Given the description of an element on the screen output the (x, y) to click on. 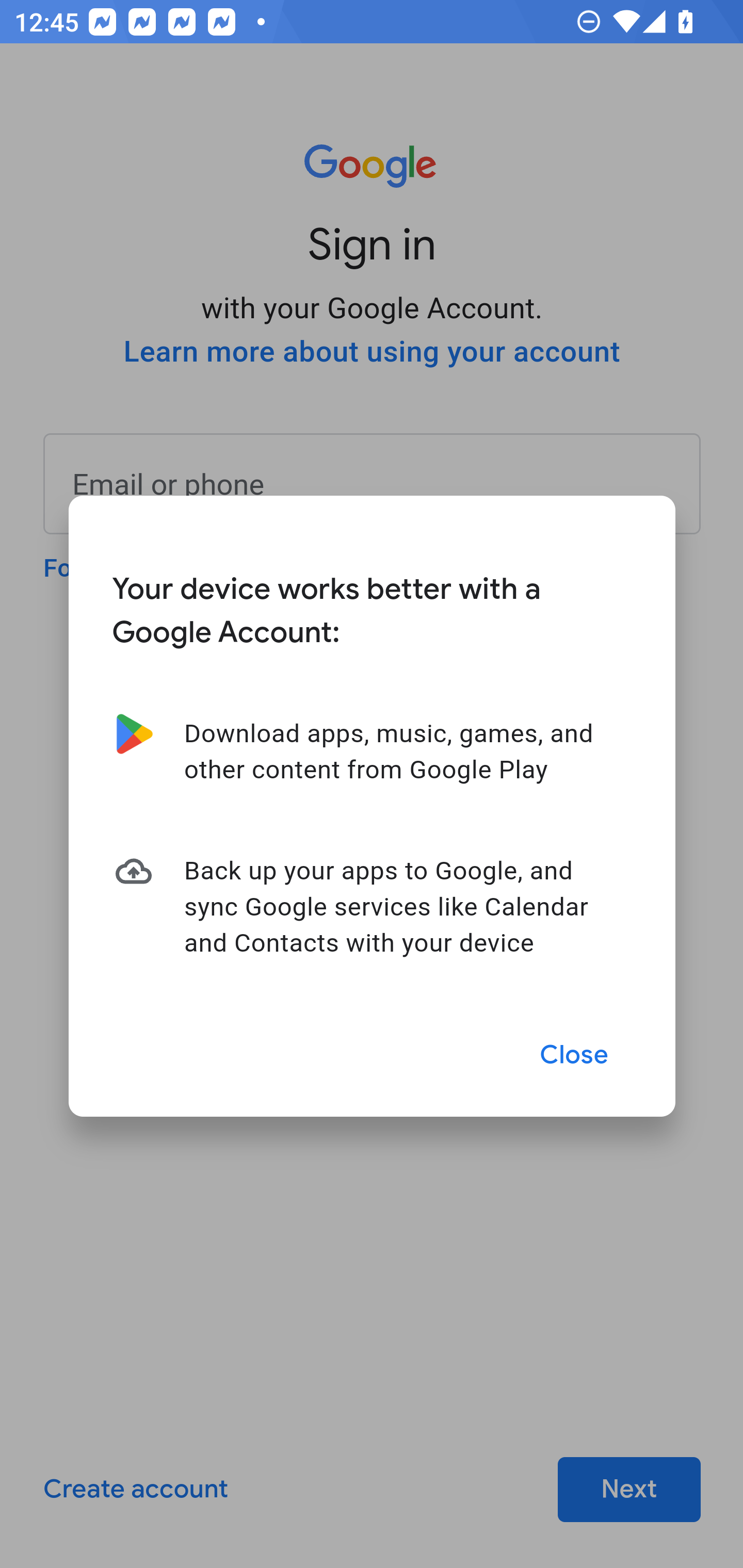
Close (574, 1055)
